Given the description of an element on the screen output the (x, y) to click on. 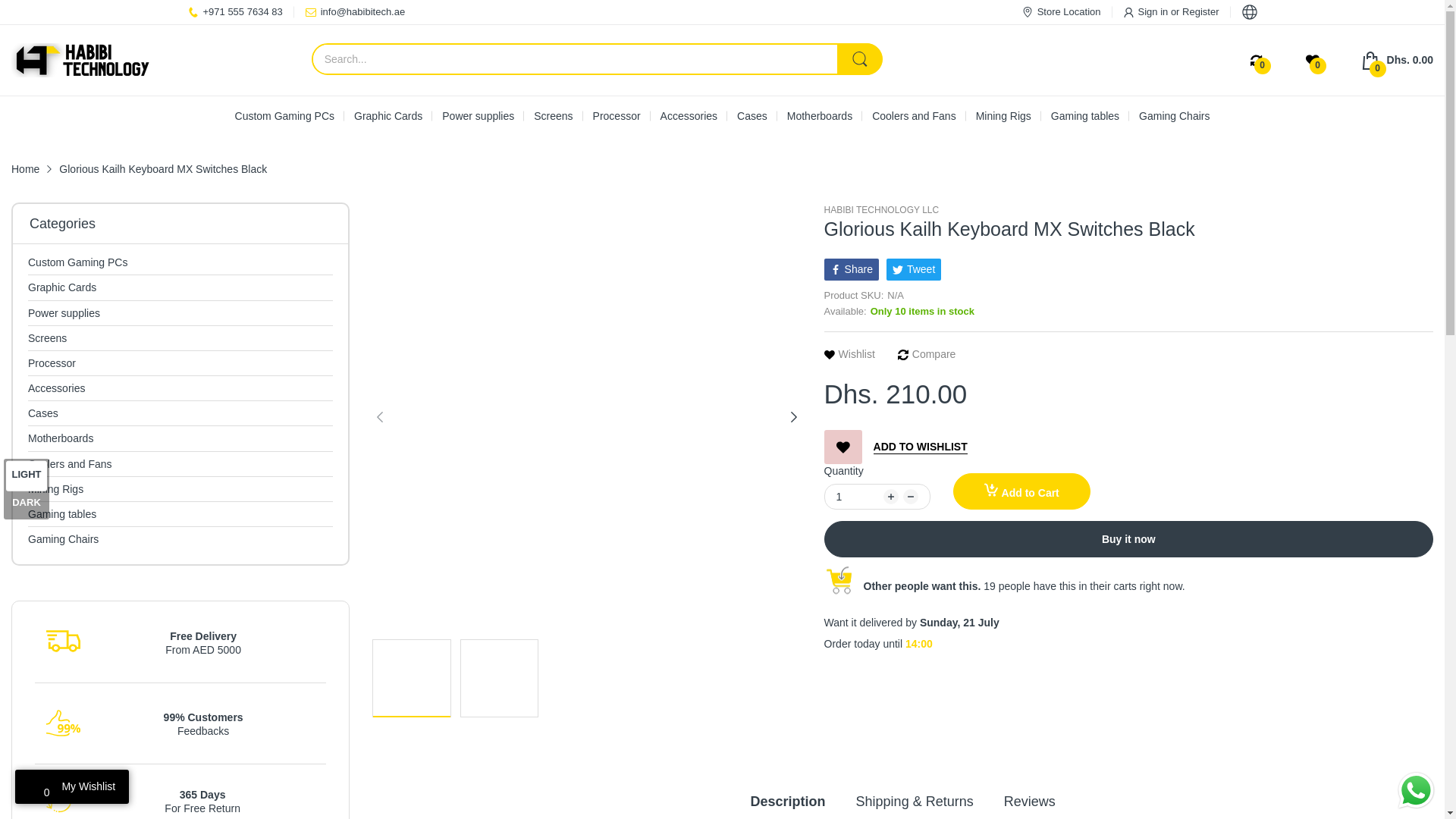
Screens (553, 115)
Motherboards (819, 115)
Glorious Kailh Keyboard MX Switches Black (499, 677)
Power supplies (63, 313)
Graphic Cards (61, 287)
Graphic Cards (387, 115)
Accessories (689, 115)
electro-thumb (63, 722)
Screens (46, 337)
Twitter (913, 269)
Accessories (55, 387)
Processor (51, 363)
Glorious Kailh Keyboard MX Switches Black (1396, 60)
1 (410, 677)
